Given the description of an element on the screen output the (x, y) to click on. 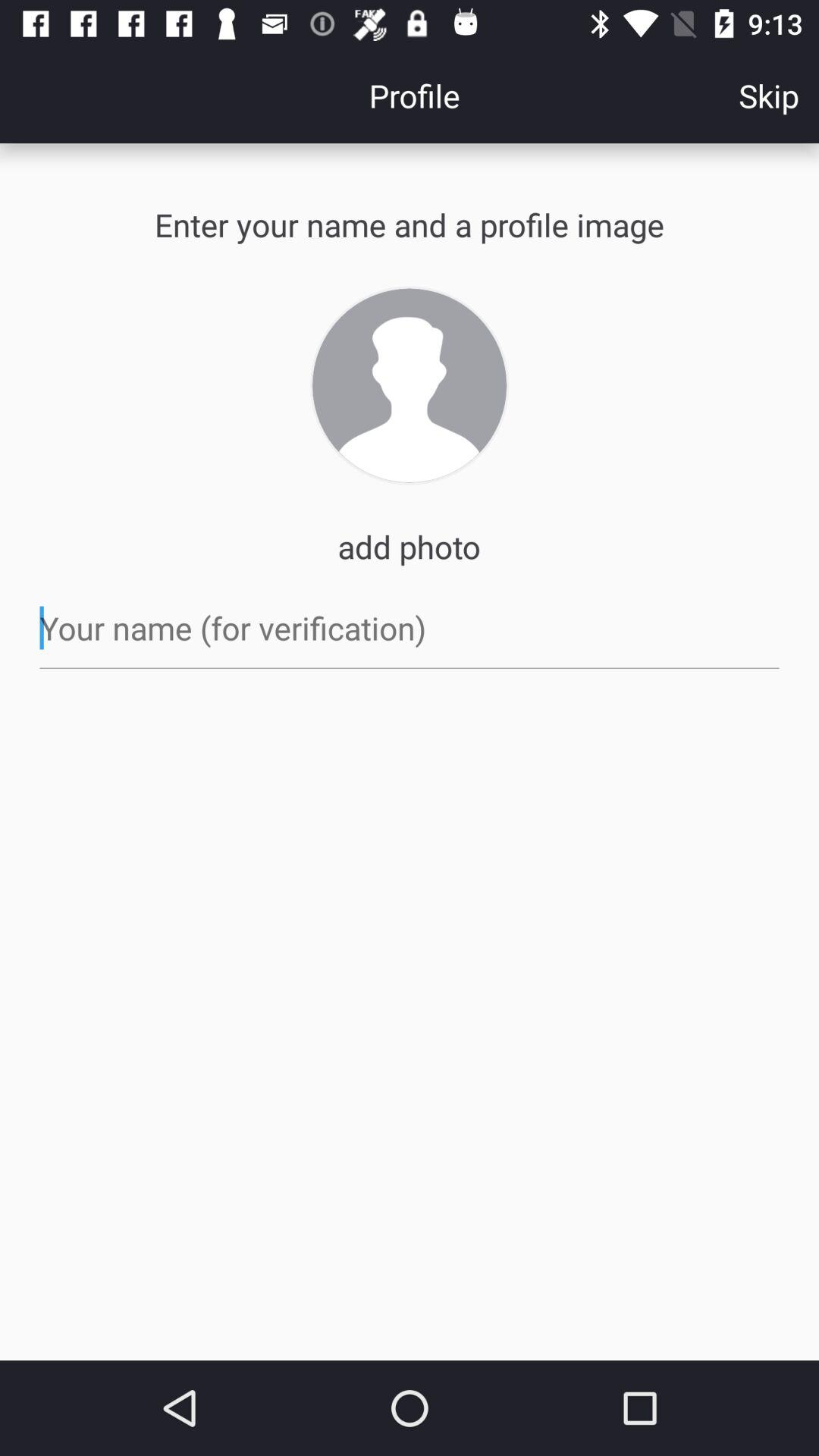
tap icon next to the profile (768, 95)
